Given the description of an element on the screen output the (x, y) to click on. 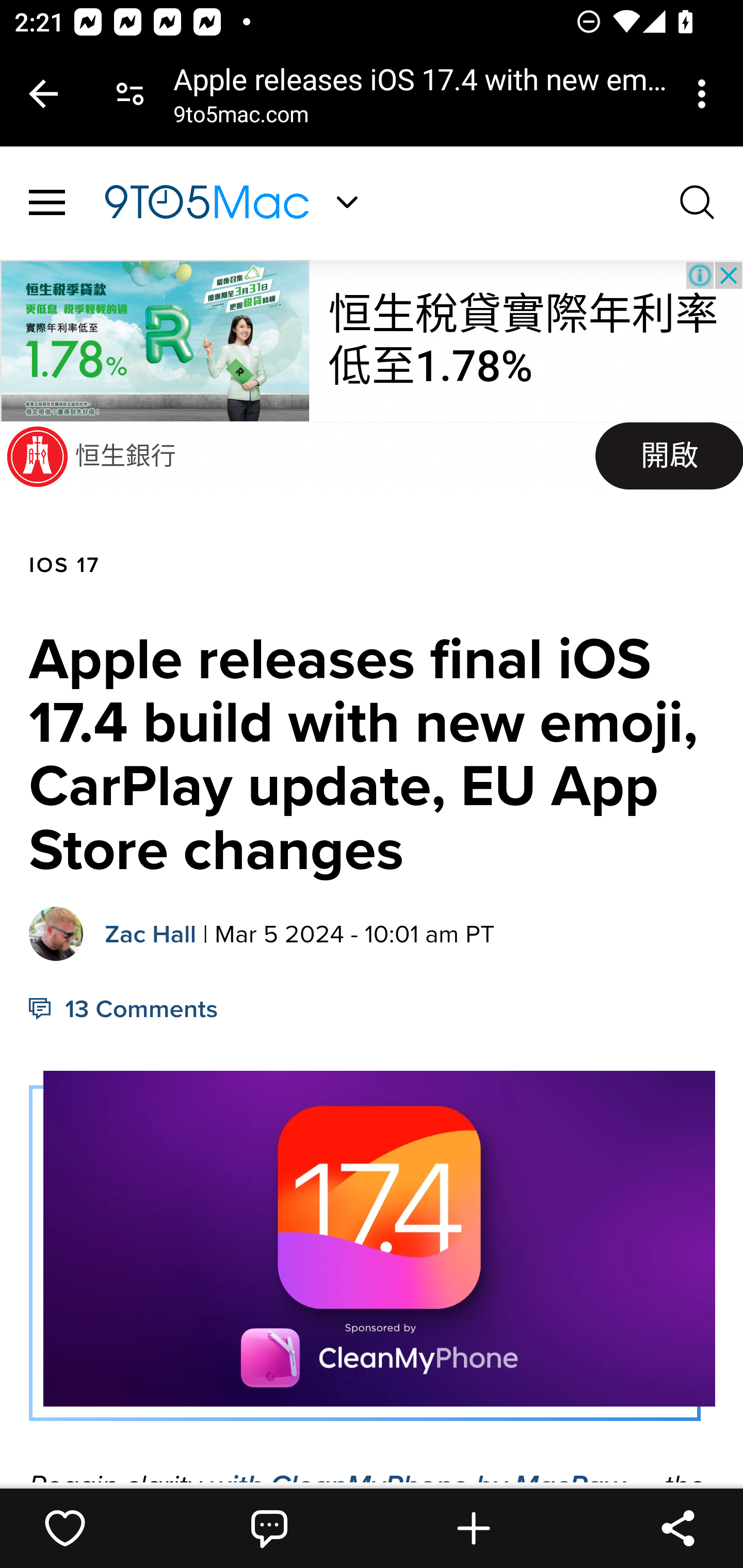
Close tab (43, 93)
Customize and control Google Chrome (705, 93)
Connection is secure (129, 93)
9to5mac.com (240, 117)
Toggle main menu (46, 203)
Toggle search form (697, 201)
Switch site (346, 202)
Like (64, 1528)
Write a comment… (269, 1528)
Flip into Magazine (473, 1528)
Share (677, 1528)
